Given the description of an element on the screen output the (x, y) to click on. 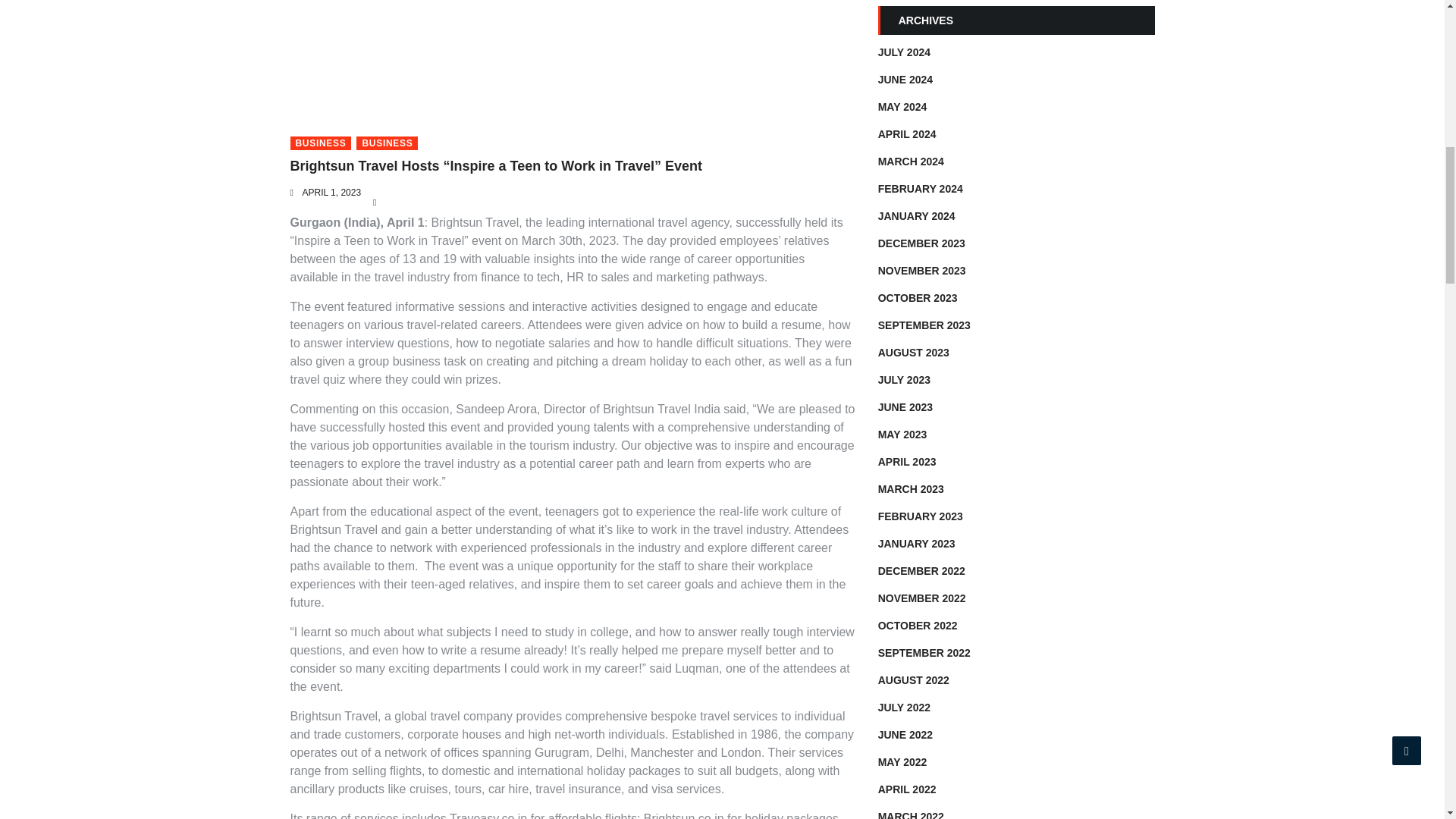
BUSINESS (386, 142)
APRIL 1, 2023 (331, 192)
JUNE 2024 (905, 79)
JULY 2024 (903, 51)
BUSINESS (319, 142)
